Given the description of an element on the screen output the (x, y) to click on. 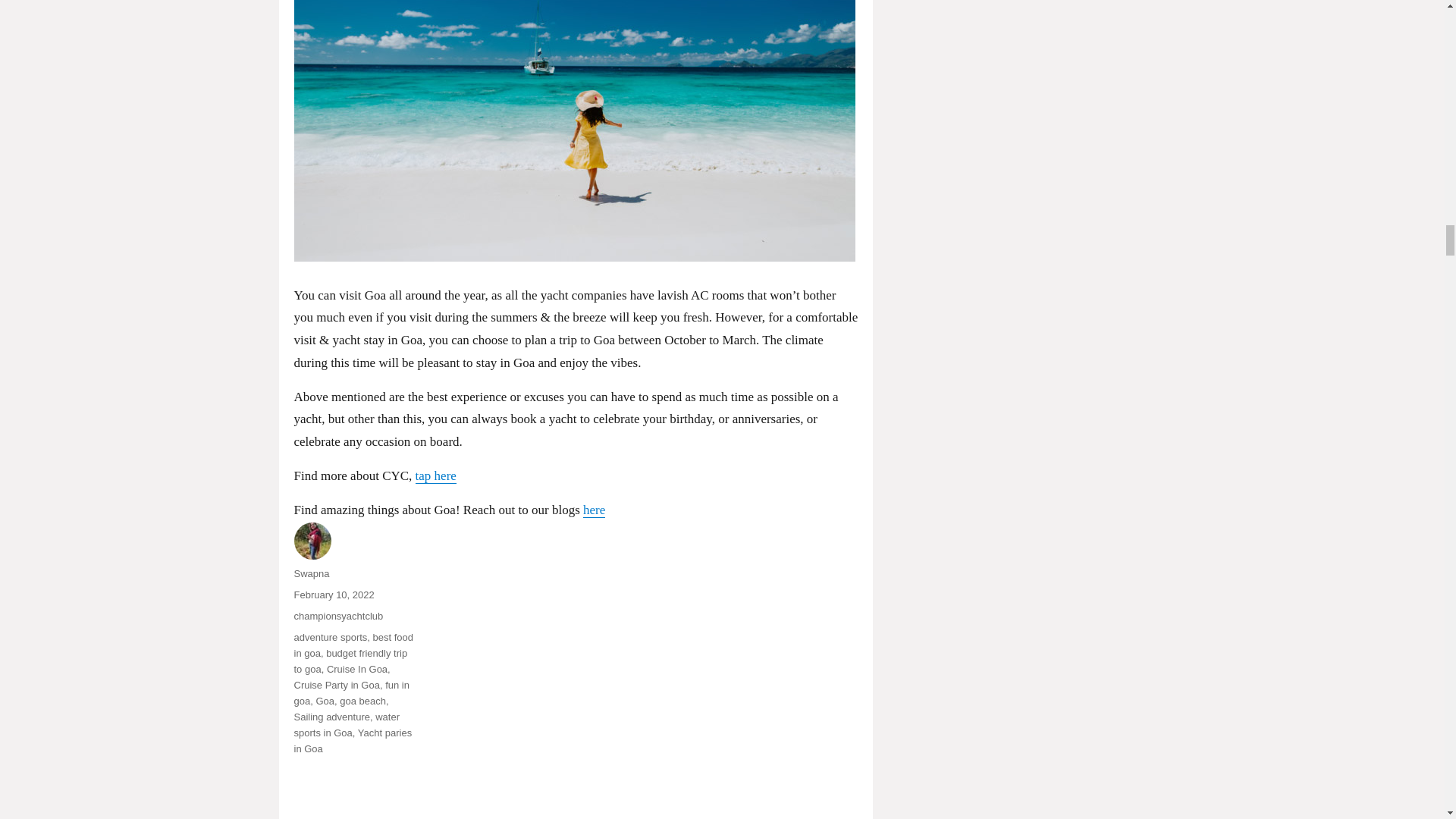
tap here (435, 475)
here (594, 509)
